Given the description of an element on the screen output the (x, y) to click on. 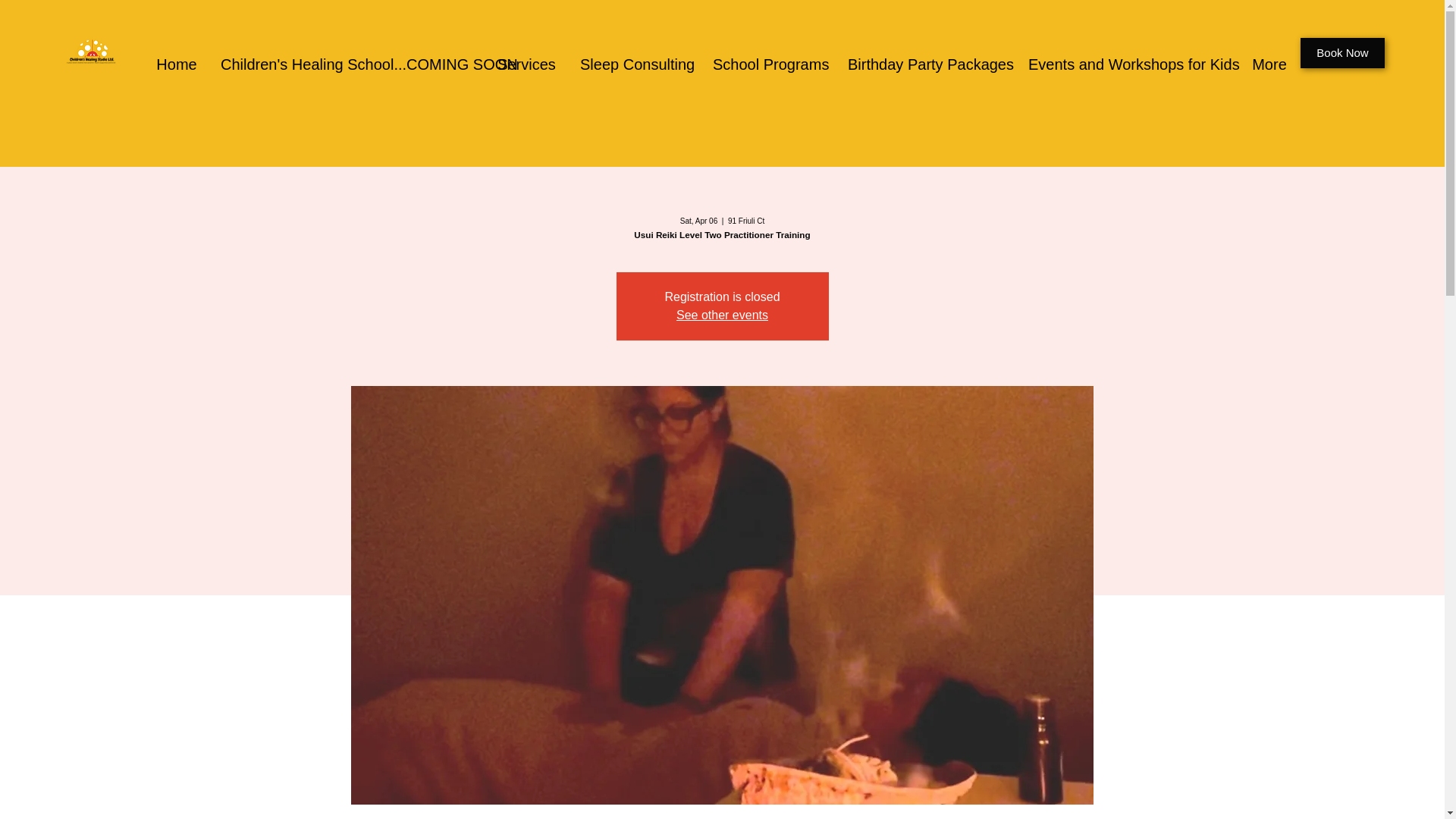
School Programs (768, 64)
Sleep Consulting (635, 64)
Events and Workshops for Kids (1127, 64)
See other events (722, 314)
Home (176, 64)
Book Now (1342, 52)
Birthday Party Packages (925, 64)
Children's Healing School...COMING SOON (346, 64)
